Given the description of an element on the screen output the (x, y) to click on. 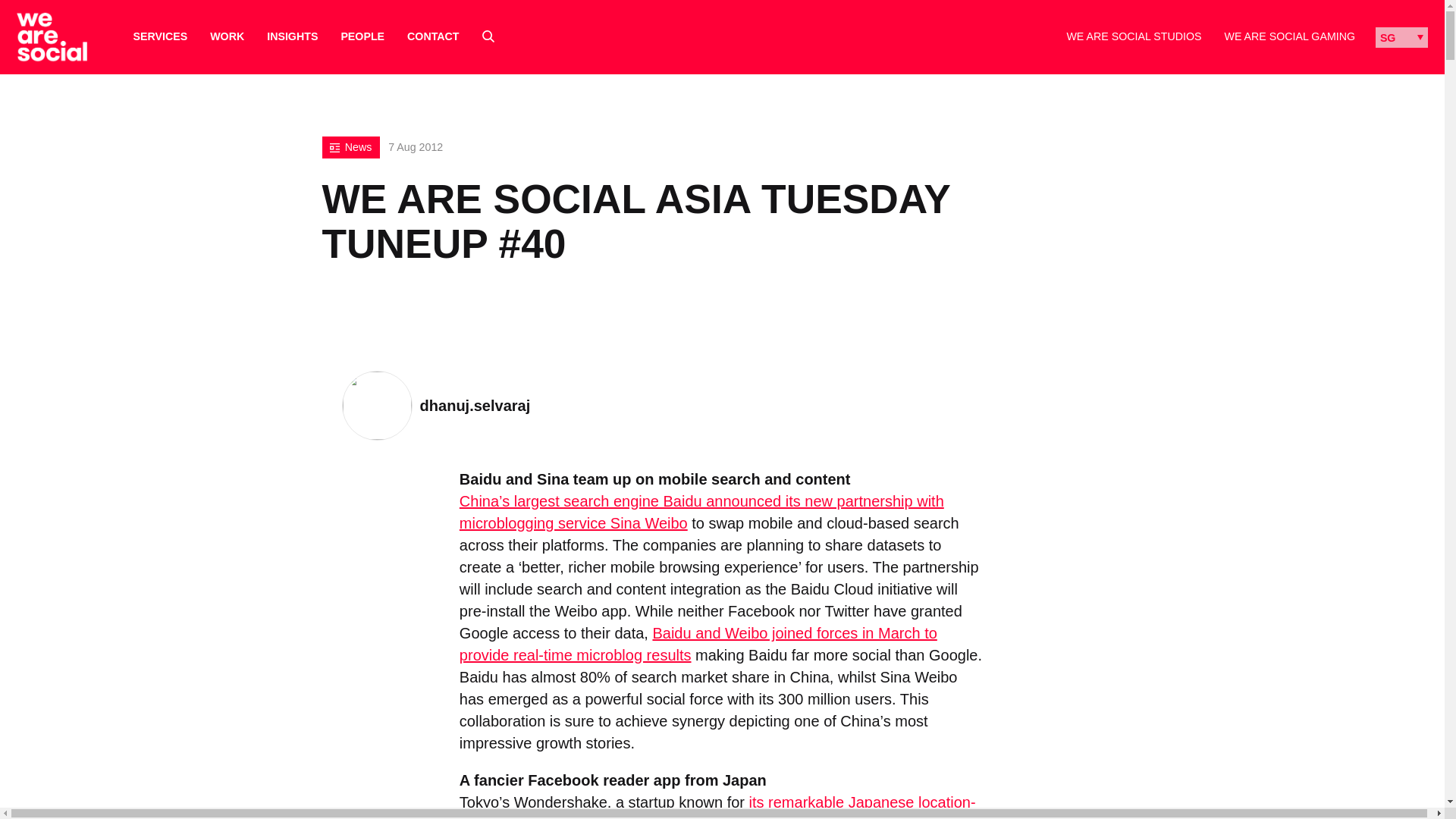
WE ARE SOCIAL STUDIOS (1133, 36)
We Are Social Studios (1133, 36)
PEOPLE (362, 36)
CONTACT (432, 36)
SERVICES (160, 36)
Contact (432, 36)
Insights (291, 36)
Select to toggle search form (488, 36)
its remarkable Japanese location-based app (717, 806)
WORK (226, 36)
INSIGHTS (291, 36)
WE ARE SOCIAL GAMING (1289, 36)
Work (226, 36)
